Given the description of an element on the screen output the (x, y) to click on. 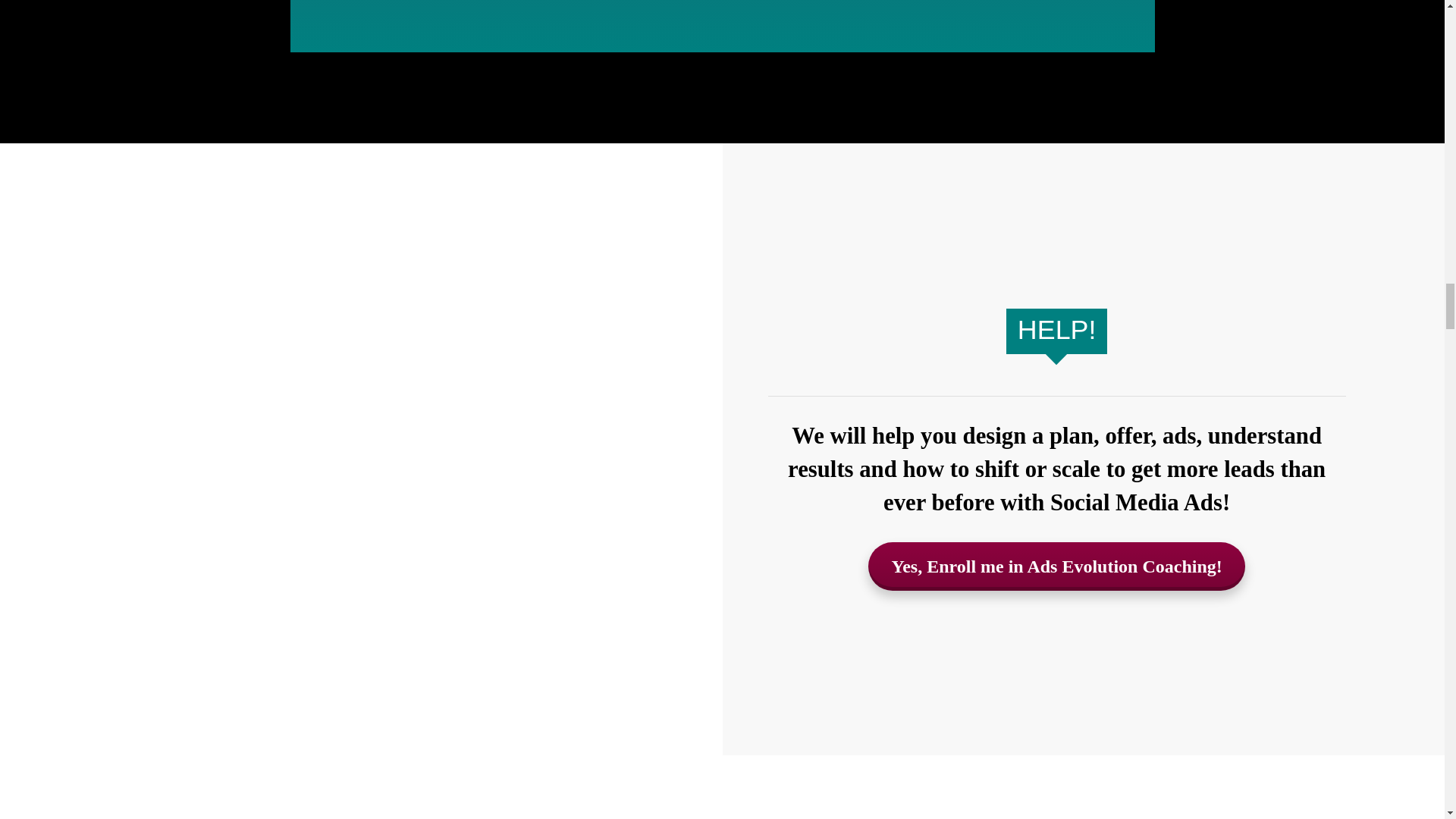
Yes, Enroll me in Ads Evolution Coaching! (1055, 566)
